Given the description of an element on the screen output the (x, y) to click on. 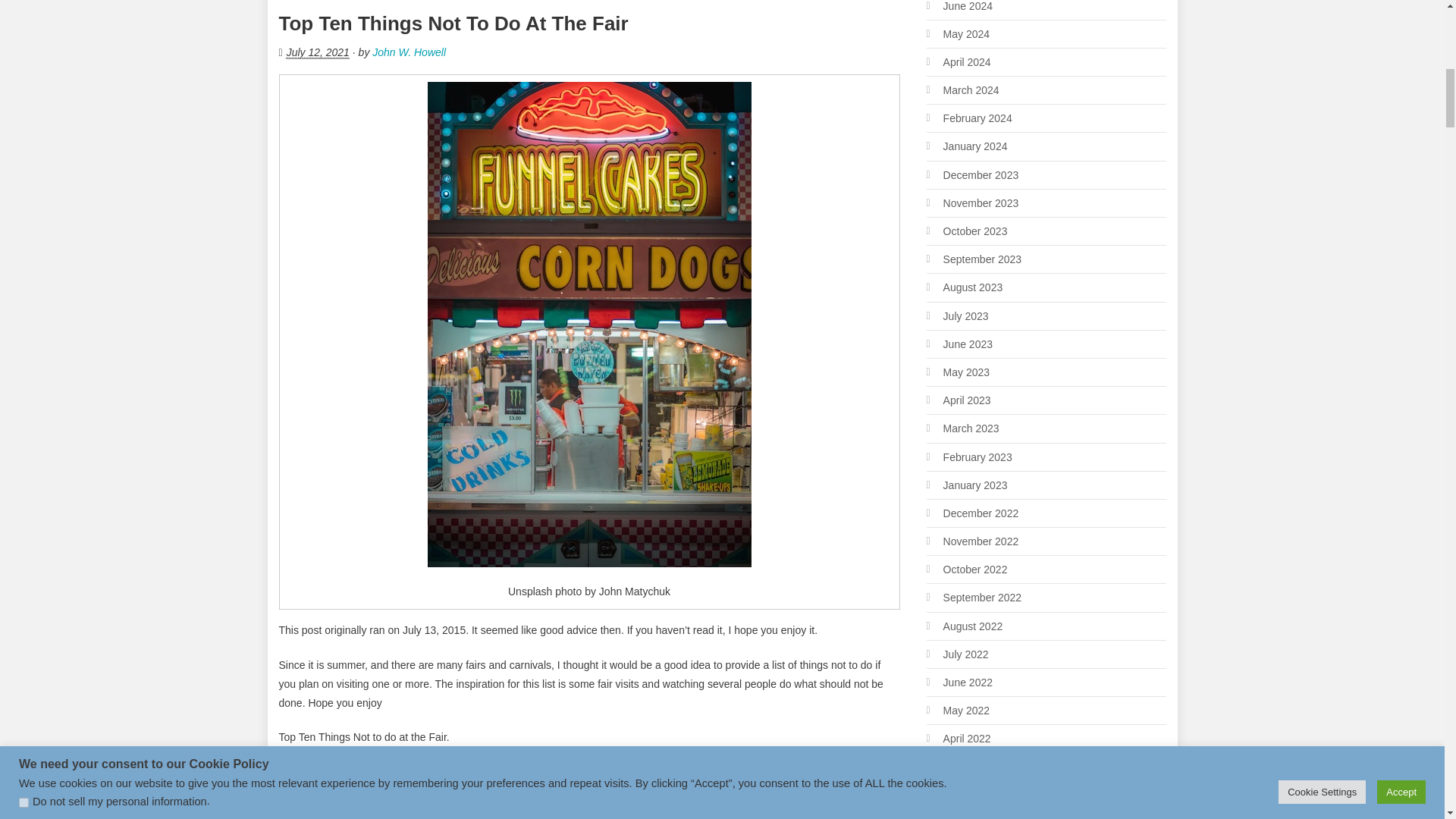
His Revenge (849, 811)
fiction favorites (764, 811)
Eternal Road - The final stop (644, 811)
John W. Howell (408, 51)
Circumstances of Childhood (496, 811)
author (345, 811)
books (397, 811)
